Given the description of an element on the screen output the (x, y) to click on. 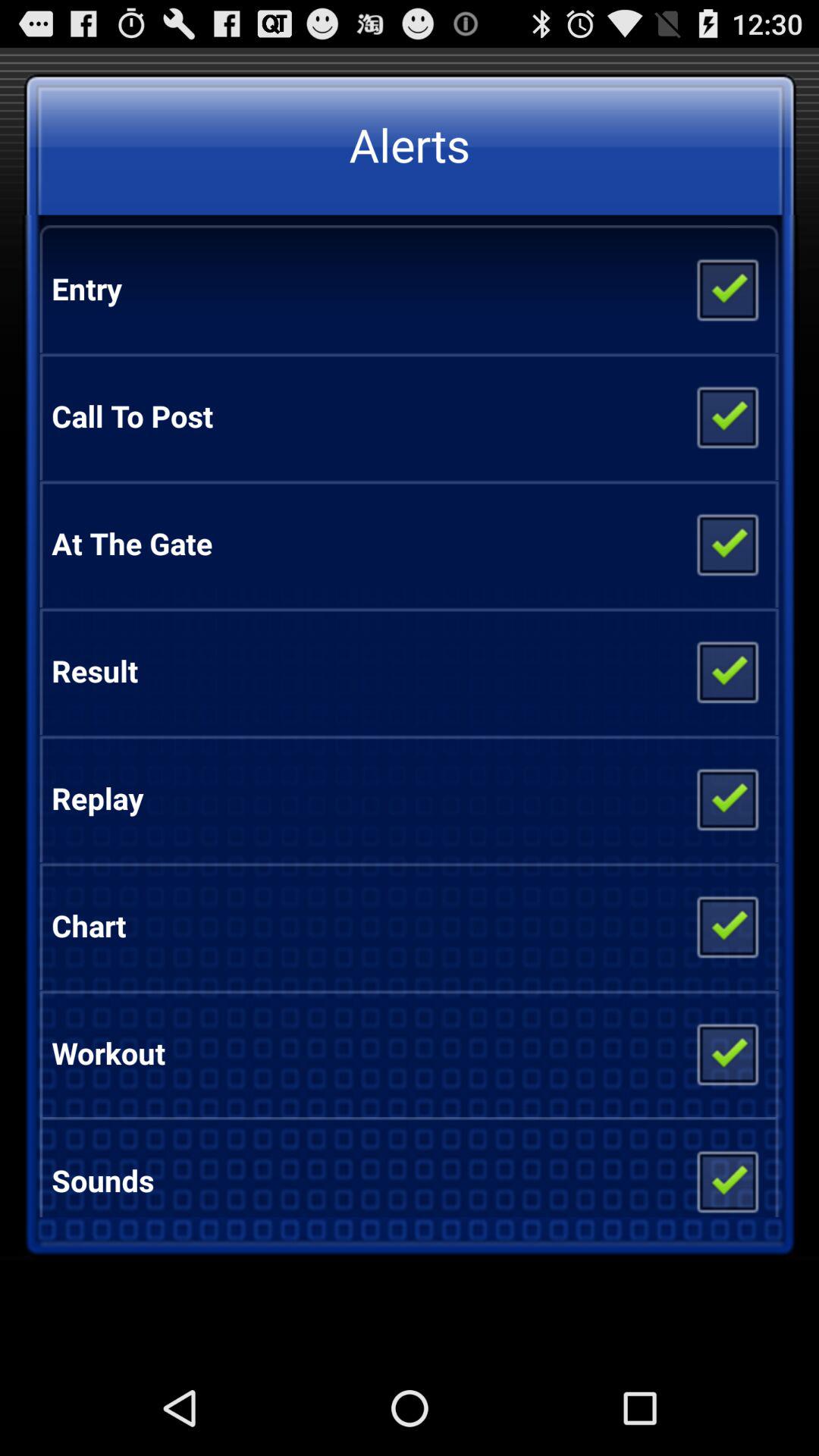
sounds on or off (726, 1174)
